Given the description of an element on the screen output the (x, y) to click on. 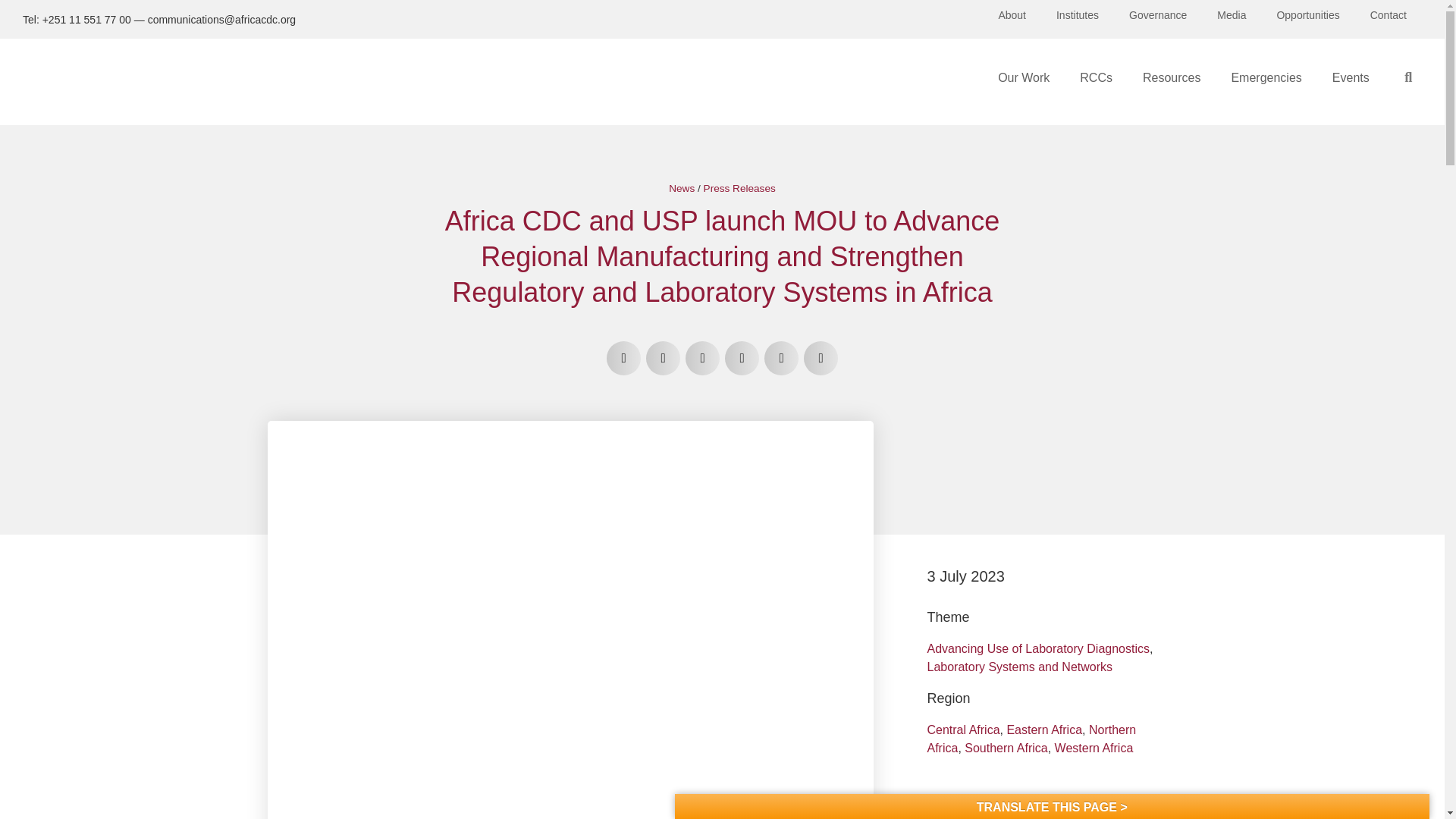
Institutes (1077, 15)
Our Work (1023, 77)
Opportunities (1307, 15)
About (1011, 15)
Contact (1388, 15)
Media (1231, 15)
Governance (1157, 15)
